Given the description of an element on the screen output the (x, y) to click on. 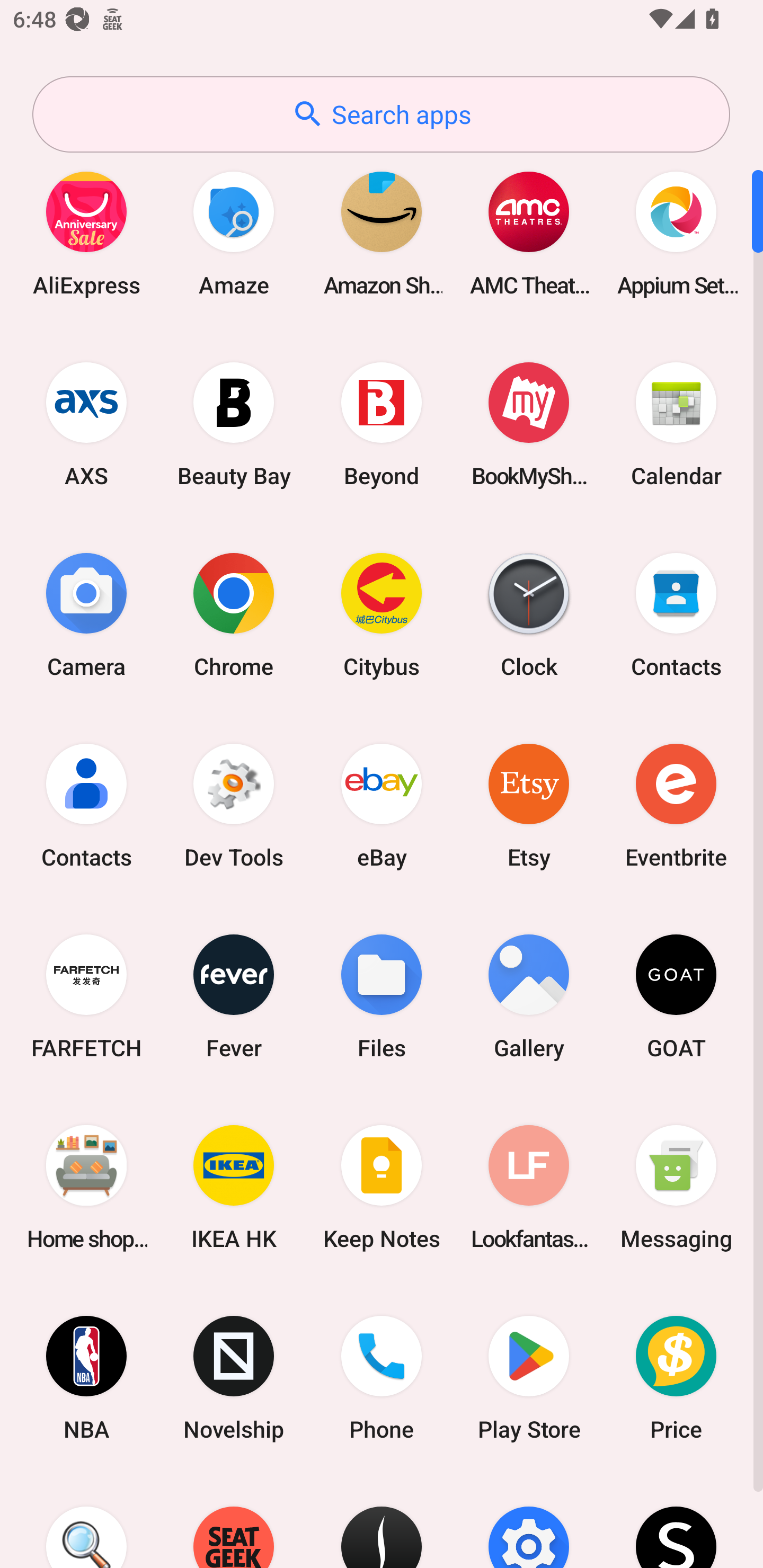
  Search apps (381, 114)
AliExpress (86, 233)
Amaze (233, 233)
Amazon Shopping (381, 233)
AMC Theatres (528, 233)
Appium Settings (676, 233)
AXS (86, 424)
Beauty Bay (233, 424)
Beyond (381, 424)
BookMyShow (528, 424)
Calendar (676, 424)
Camera (86, 614)
Chrome (233, 614)
Citybus (381, 614)
Clock (528, 614)
Contacts (676, 614)
Contacts (86, 805)
Dev Tools (233, 805)
eBay (381, 805)
Etsy (528, 805)
Eventbrite (676, 805)
FARFETCH (86, 996)
Fever (233, 996)
Files (381, 996)
Gallery (528, 996)
GOAT (676, 996)
Home shopping (86, 1186)
IKEA HK (233, 1186)
Keep Notes (381, 1186)
Lookfantastic (528, 1186)
Messaging (676, 1186)
NBA (86, 1377)
Novelship (233, 1377)
Phone (381, 1377)
Play Store (528, 1377)
Price (676, 1377)
